Given the description of an element on the screen output the (x, y) to click on. 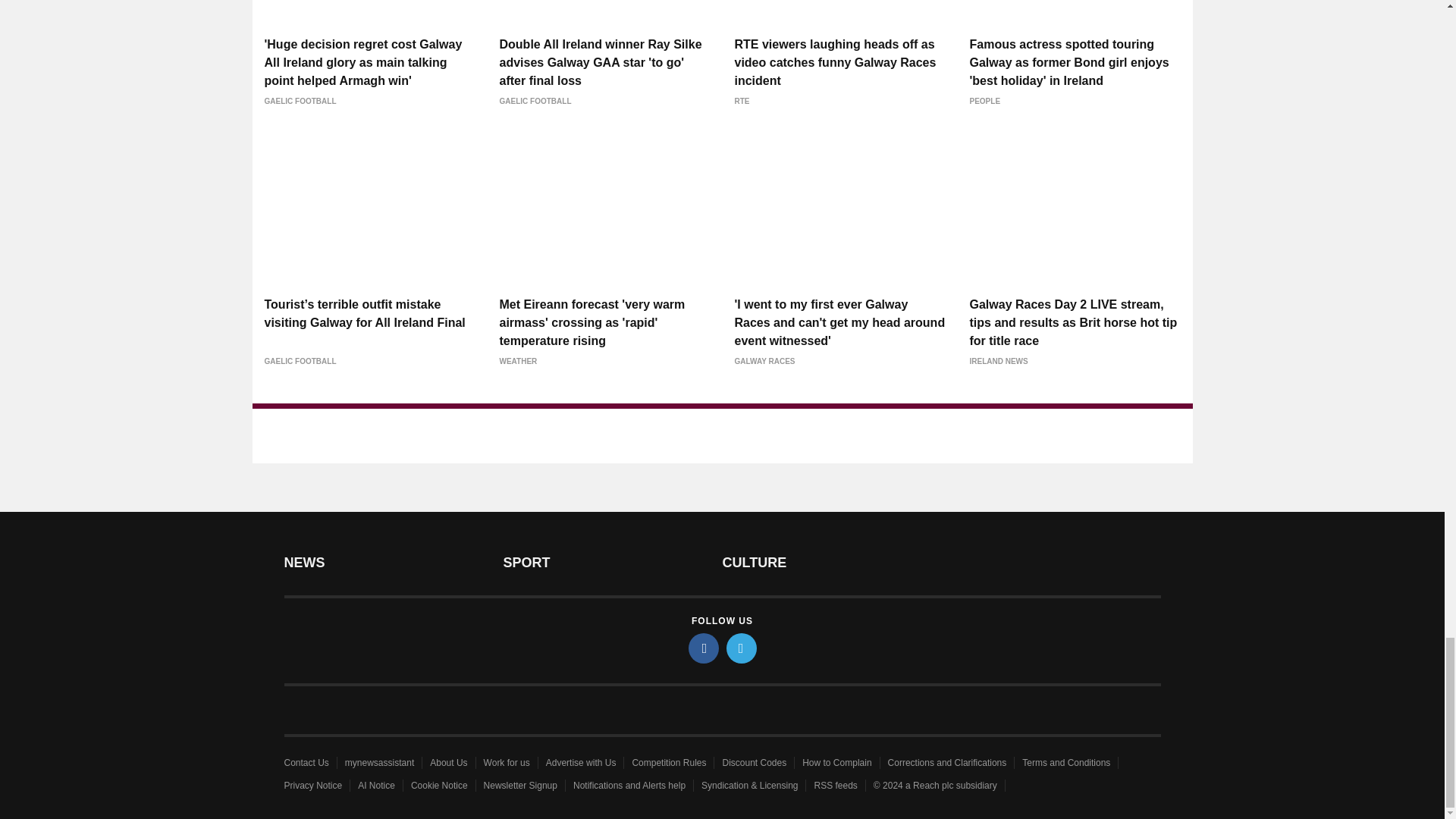
facebook (703, 648)
twitter (741, 648)
